Given the description of an element on the screen output the (x, y) to click on. 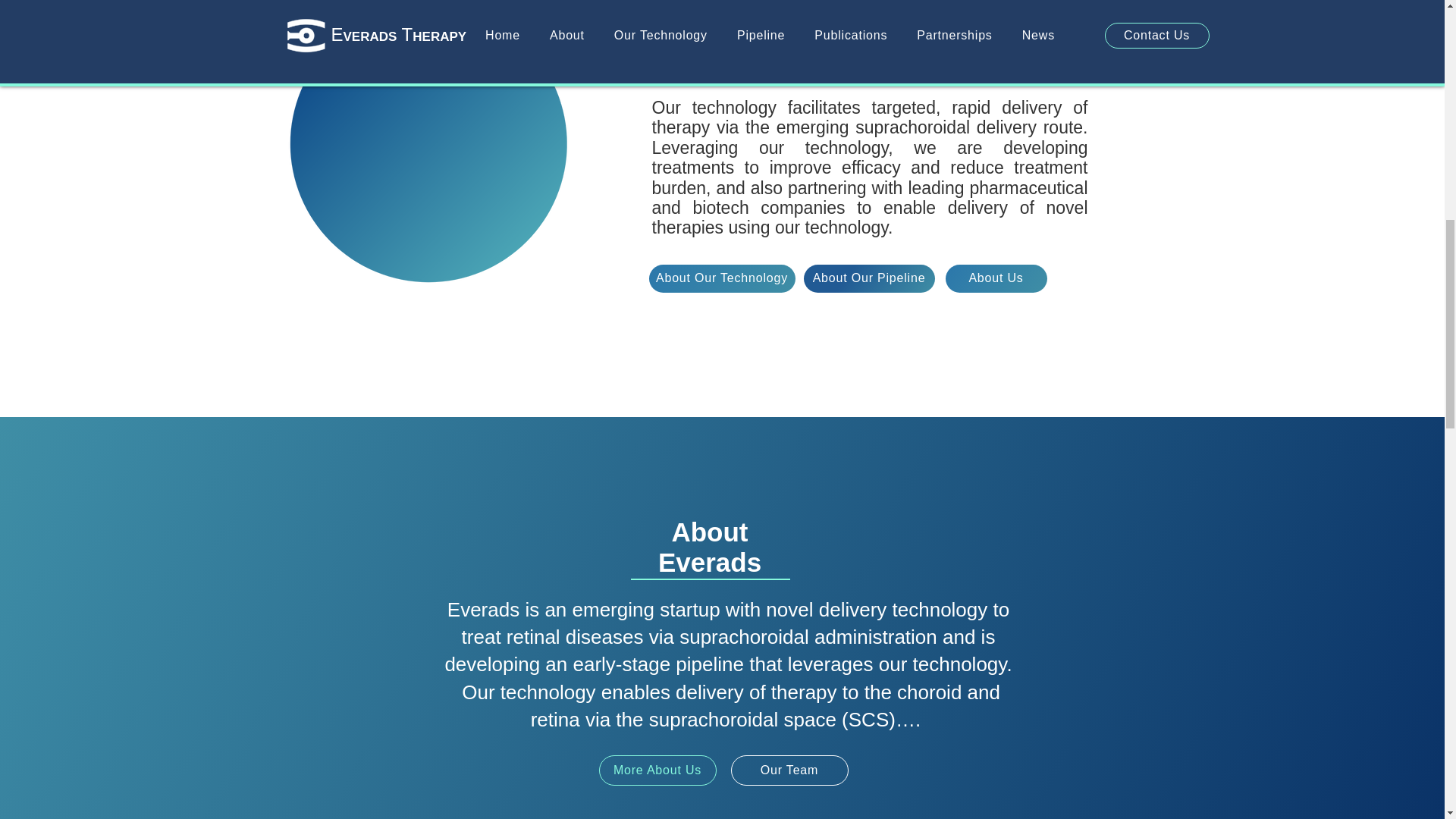
About Us (995, 278)
More About Us (657, 770)
About Our Pipeline (868, 278)
About Our Technology (721, 278)
Our Team (789, 770)
